Given the description of an element on the screen output the (x, y) to click on. 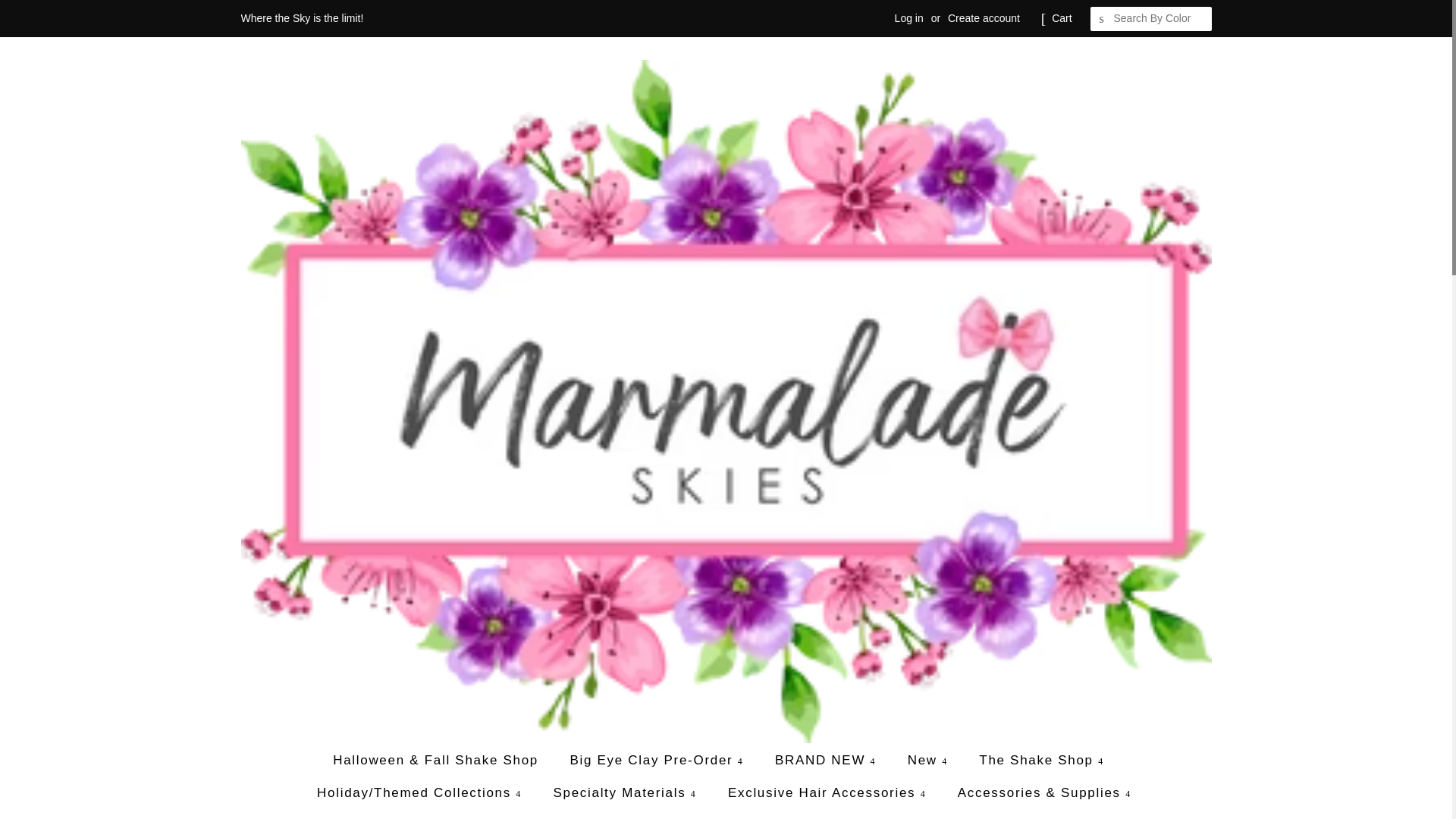
Create account (983, 18)
Cart (1061, 18)
Search (1102, 18)
Log in (909, 18)
